Given the description of an element on the screen output the (x, y) to click on. 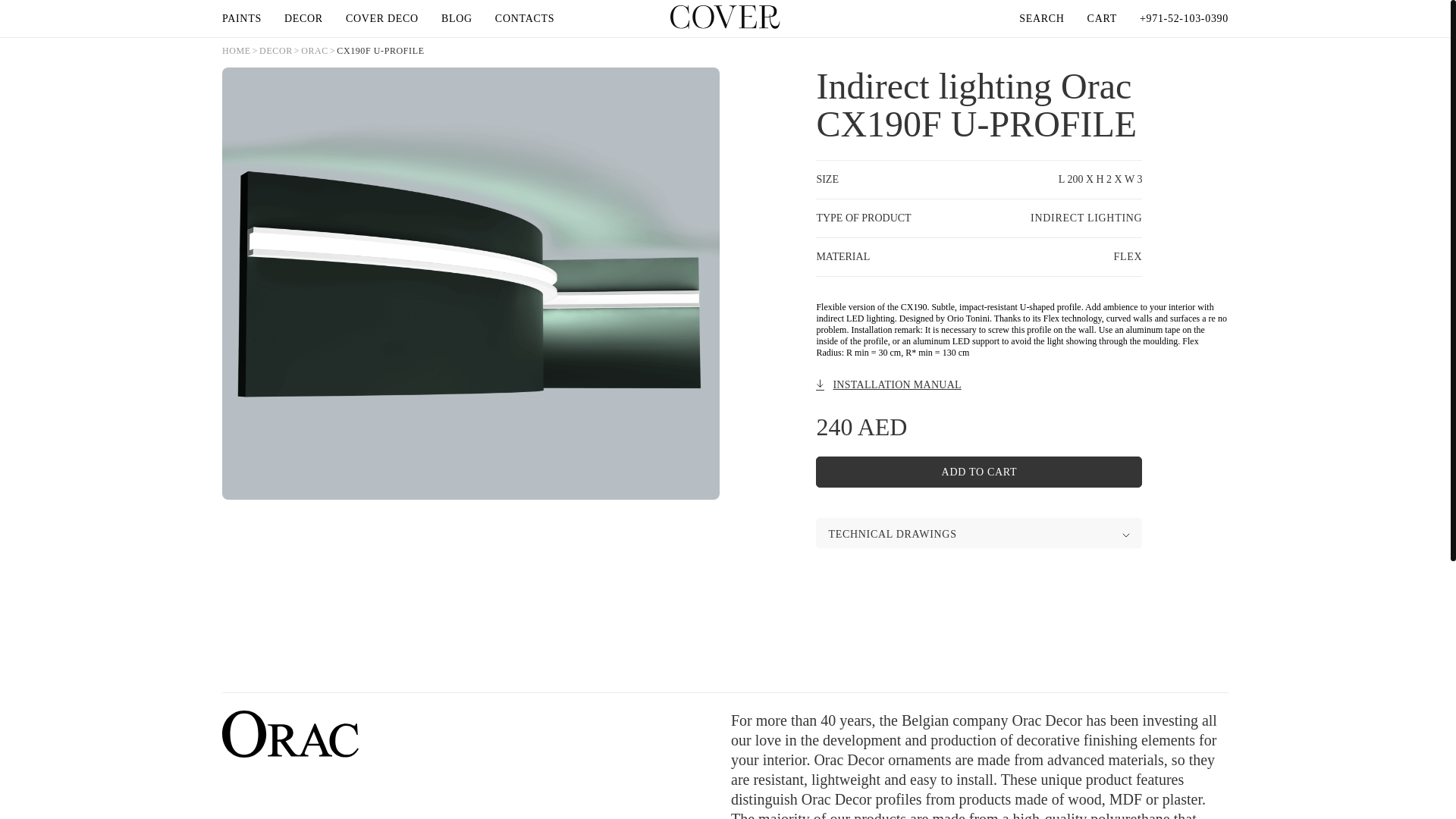
COVER DECO (382, 17)
PAINTS (242, 17)
DECOR (275, 50)
HOME (236, 50)
INSTALLATION MANUAL (887, 384)
ADD TO CART (978, 471)
ORAC (315, 50)
SEARCH (1041, 17)
DECOR (303, 17)
INDIRECT LIGHTING (1085, 217)
FLEX (1127, 256)
BLOG (456, 17)
CART (1101, 17)
CONTACTS (524, 17)
